Given the description of an element on the screen output the (x, y) to click on. 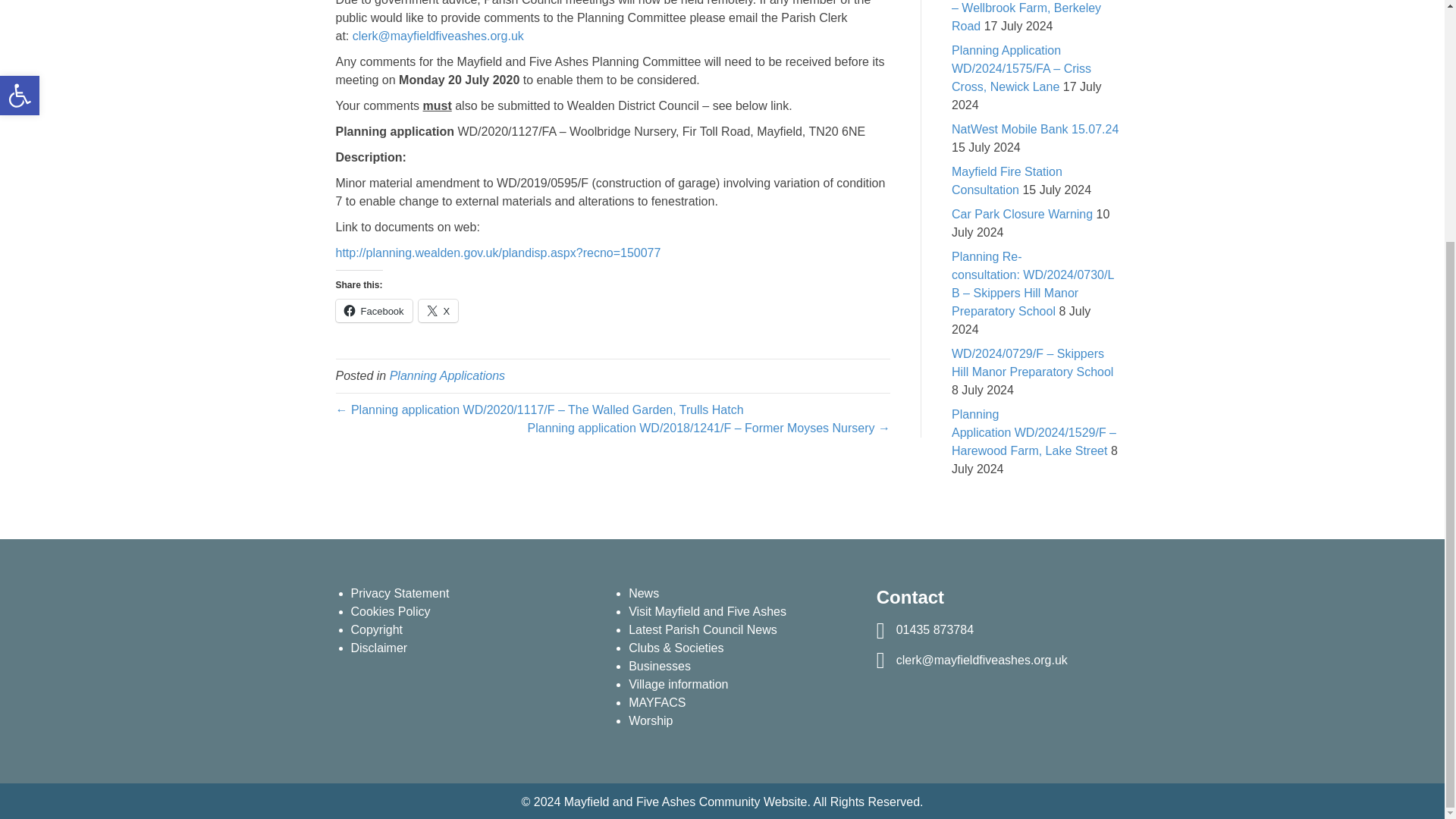
Click to share on Facebook (373, 310)
Click to share on X (438, 310)
